Given the description of an element on the screen output the (x, y) to click on. 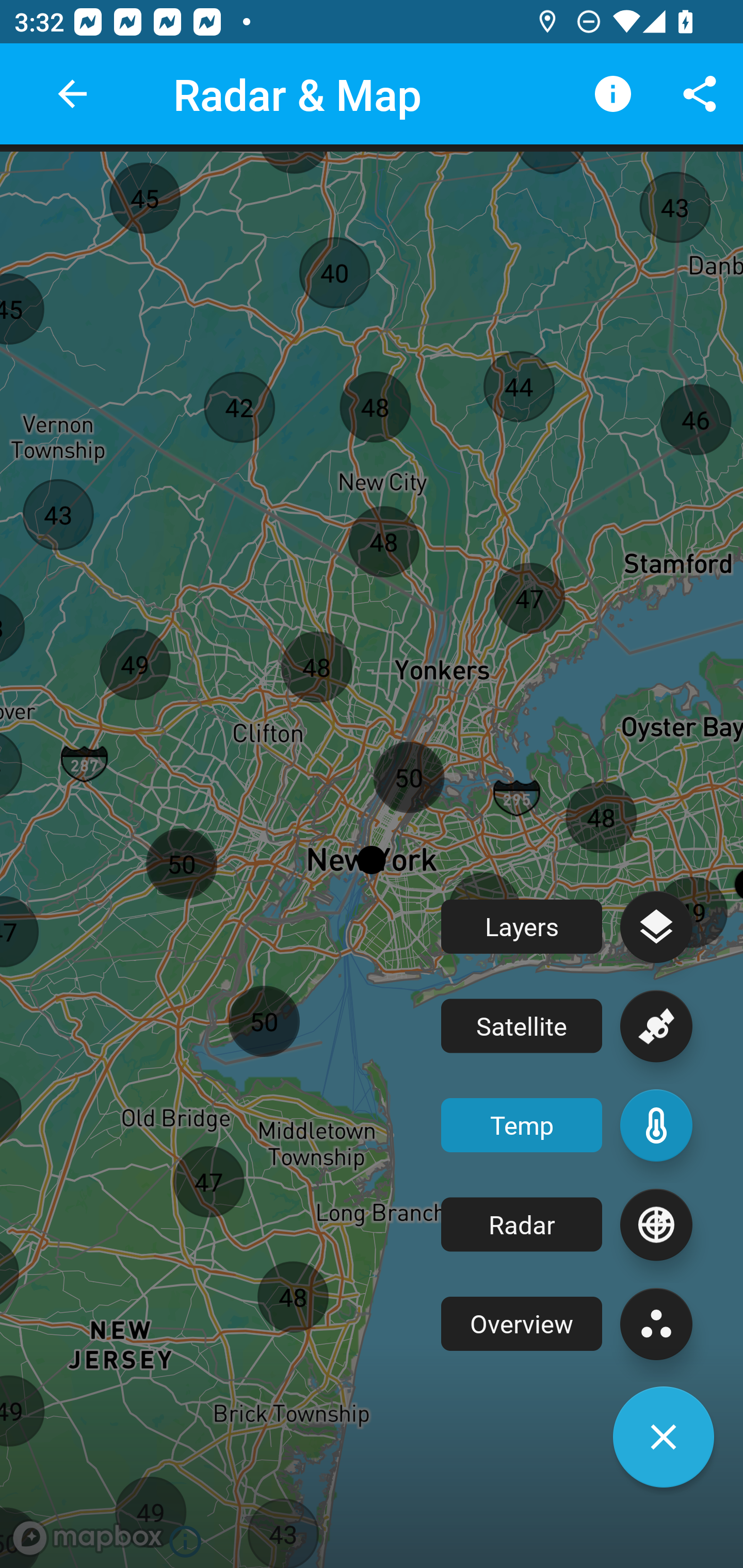
back (71, 93)
Legend (612, 93)
Share (699, 93)
Layers (566, 926)
Satellite (566, 1026)
Temp (566, 1125)
Radar (566, 1224)
Overview (566, 1323)
Close layers menu. (663, 1437)
